Given the description of an element on the screen output the (x, y) to click on. 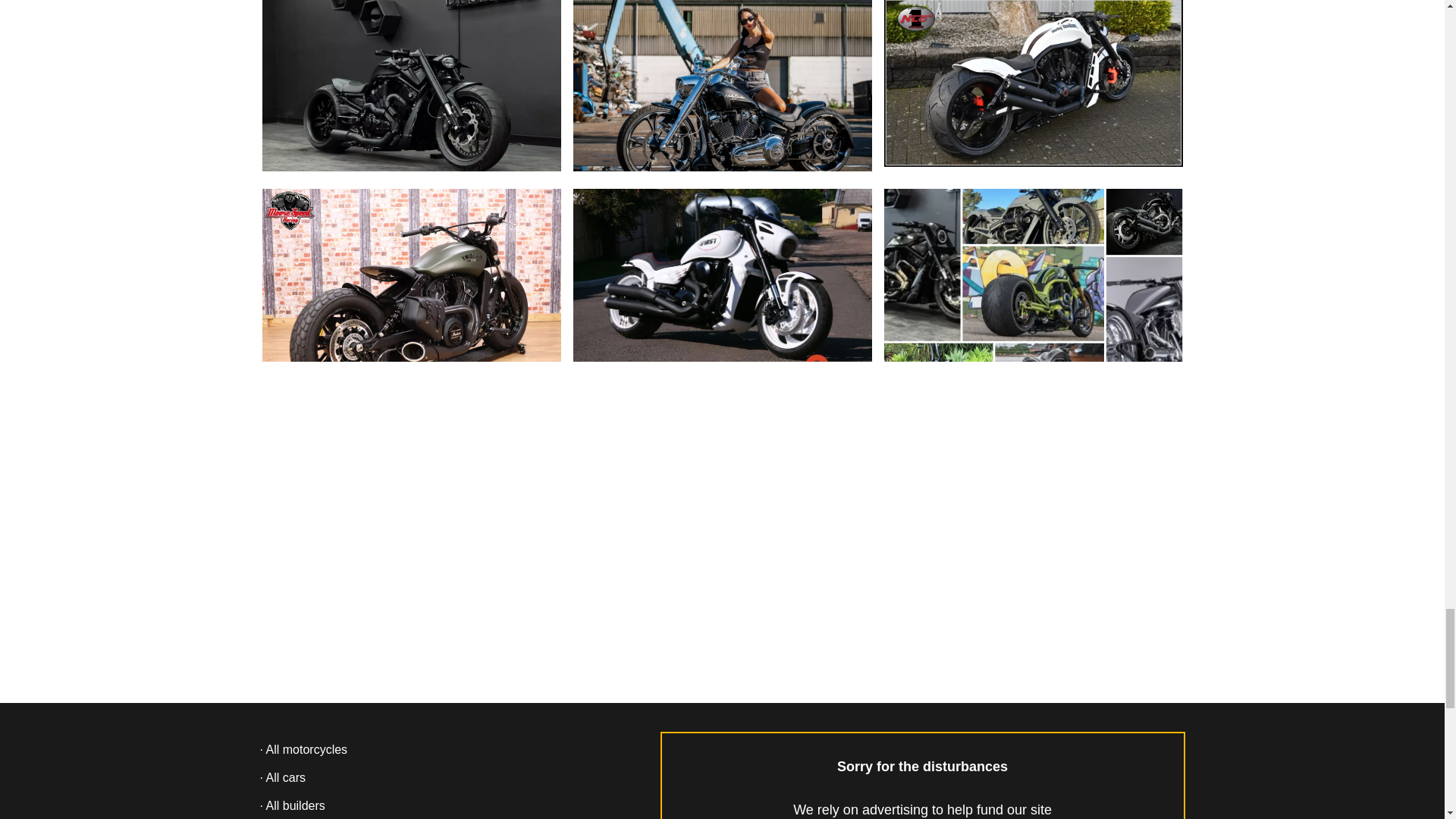
When it comes to motorcycle modification, DD Design (411, 98)
No Limit Custom has modified the iconic V-Rod (1032, 83)
Indian Scout Rogue modified by Moore Speed Racing (411, 288)
The Fat Boy modified by Thunderbike is a true masterpiece (722, 99)
Suzuki Boulevard custom bike 'First' by ShifCustom (722, 288)
